Given the description of an element on the screen output the (x, y) to click on. 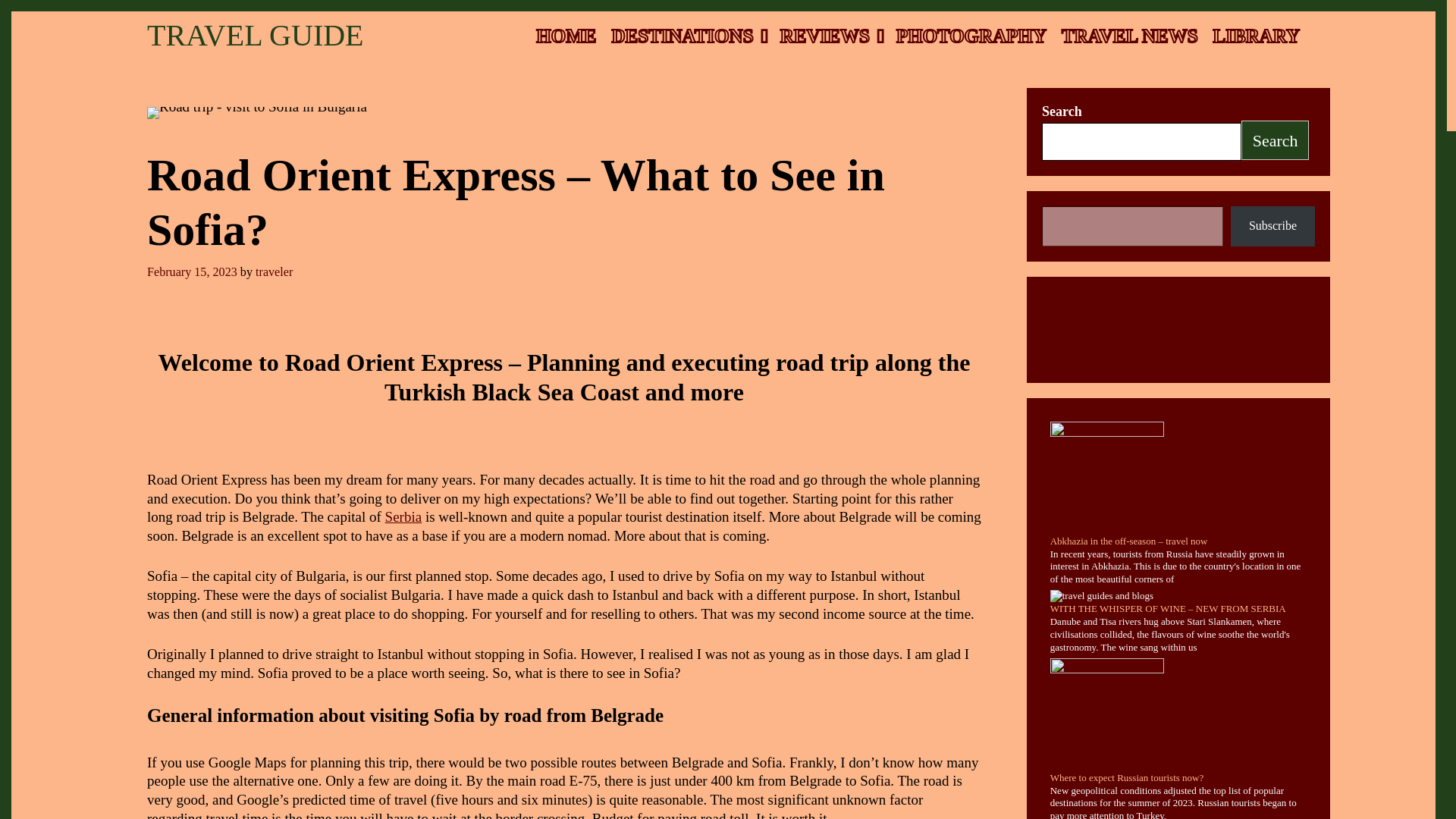
TRAVEL NEWS (1129, 36)
LIBRARY (1256, 36)
February 15, 2023 (192, 271)
10:42 (192, 271)
PHOTOGRAPHY (971, 36)
DESTINATIONS (687, 36)
Serbia (403, 516)
Search (1274, 139)
traveler (274, 271)
View all posts by traveler (274, 271)
Subscribe (1272, 226)
REVIEWS (830, 36)
HOME (566, 36)
